Given the description of an element on the screen output the (x, y) to click on. 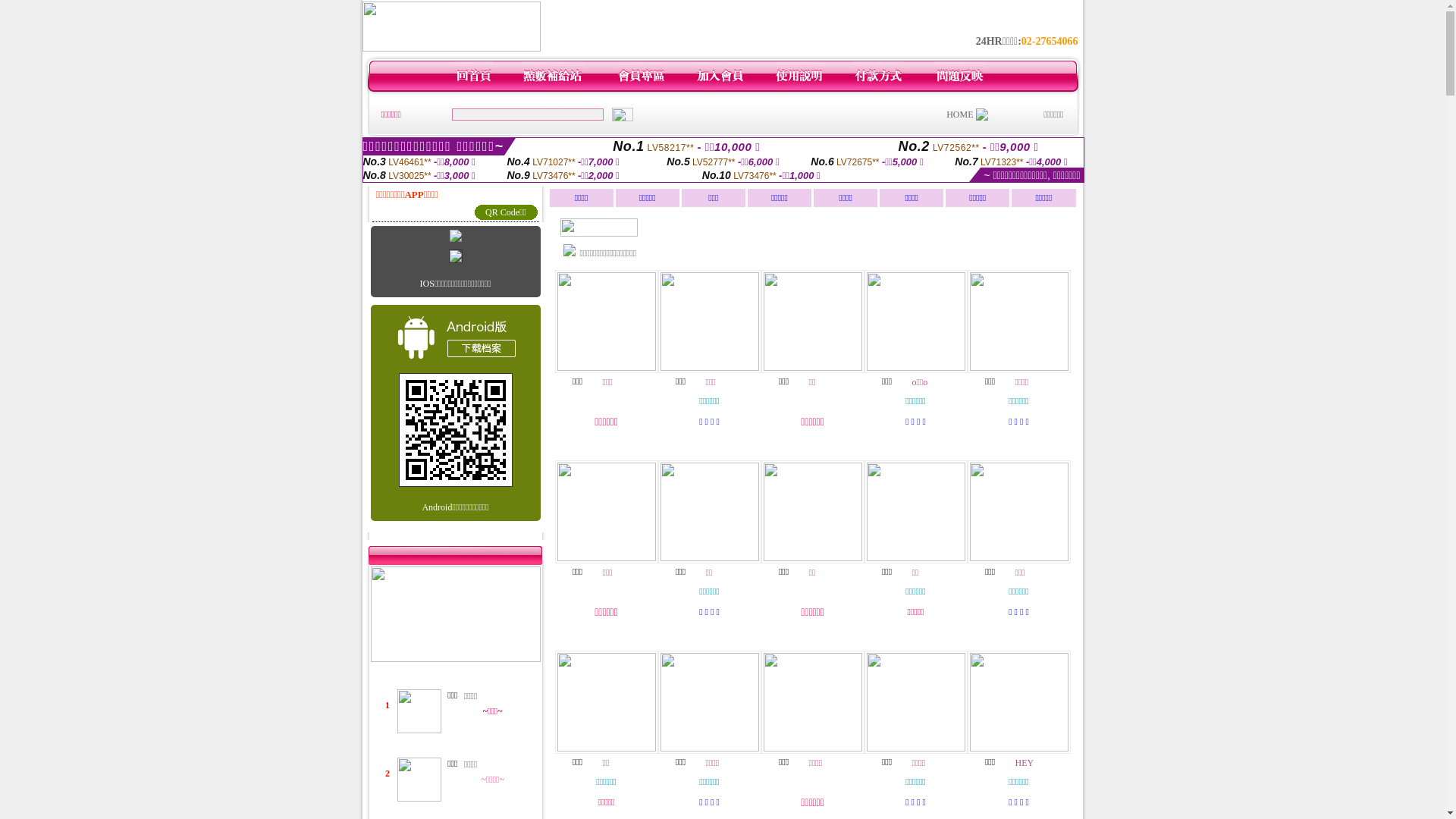
HEY Element type: text (1023, 762)
HOME Element type: text (959, 114)
